Given the description of an element on the screen output the (x, y) to click on. 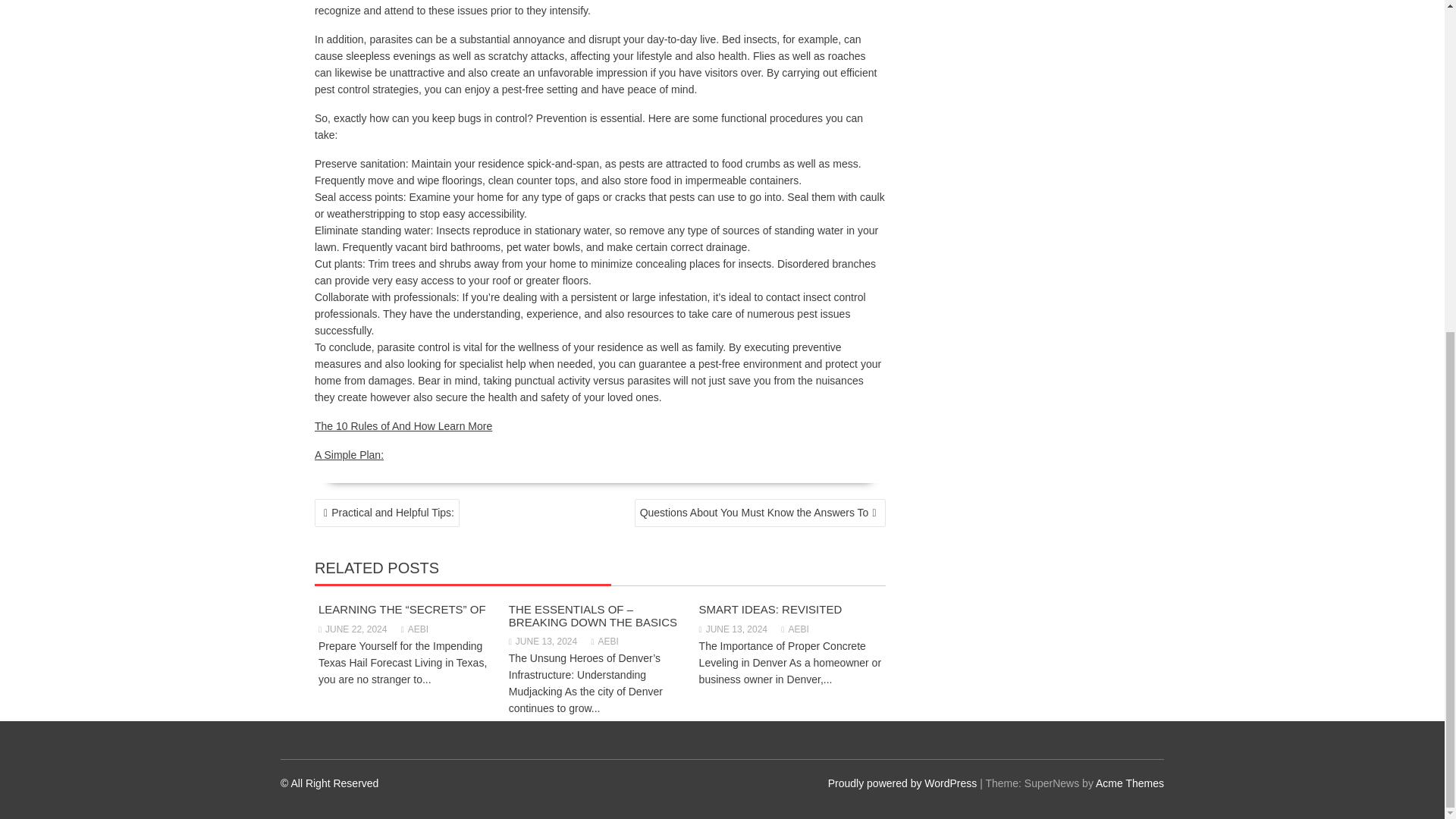
AEBI (794, 629)
JUNE 22, 2024 (352, 629)
A Simple Plan: (349, 454)
Proudly powered by WordPress (902, 783)
Acme Themes (1129, 783)
Practical and Helpful Tips: (387, 512)
Questions About You Must Know the Answers To (759, 512)
JUNE 13, 2024 (732, 629)
JUNE 13, 2024 (542, 641)
SMART IDEAS: REVISITED (770, 608)
The 10 Rules of And How Learn More (403, 426)
AEBI (414, 629)
AEBI (604, 641)
